Given the description of an element on the screen output the (x, y) to click on. 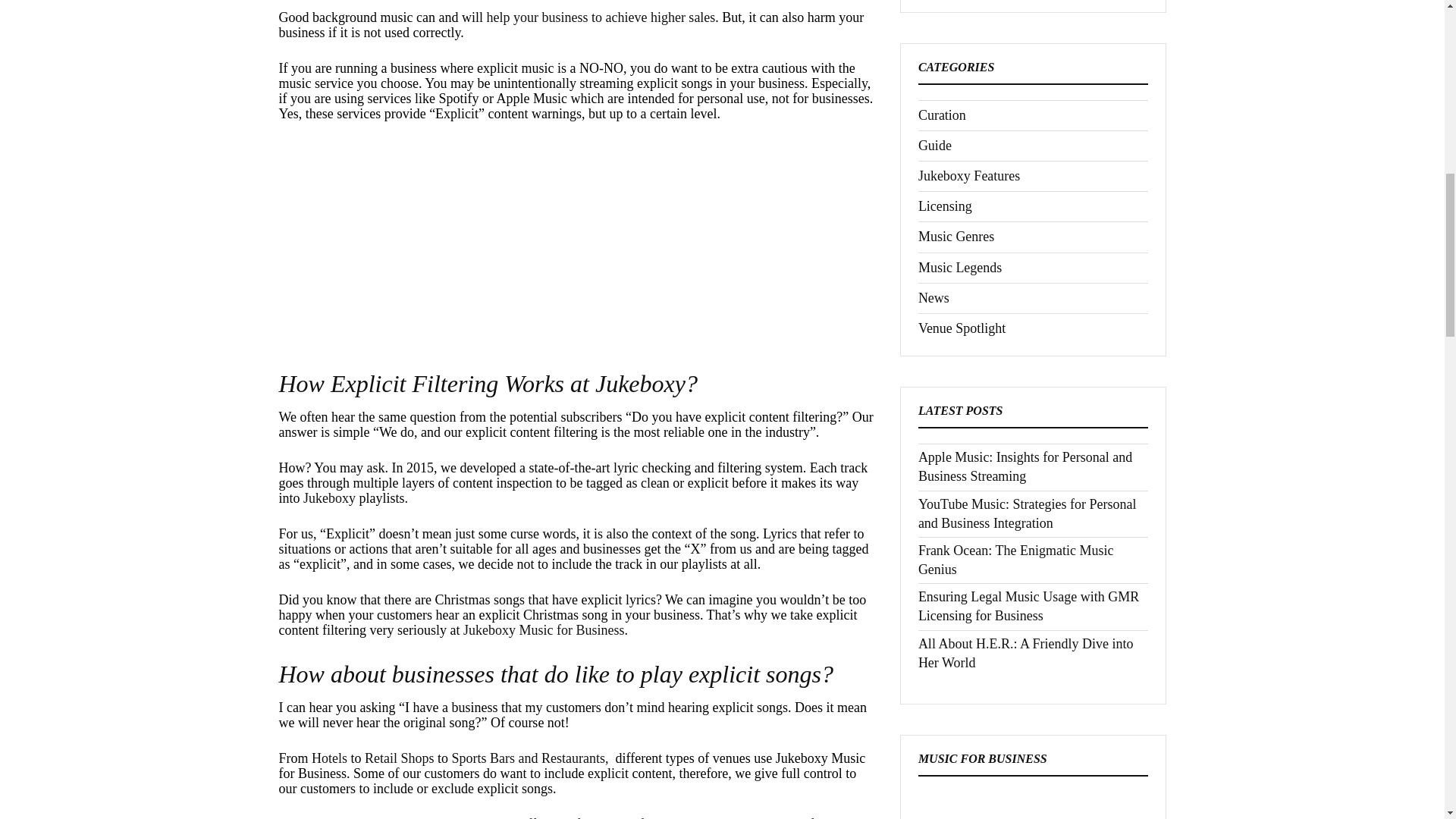
Jukeboxy Music for Business (543, 630)
Jukeboxy (328, 498)
Retail Shops (399, 758)
Hotels (329, 758)
Sports Bars and Restaurants,  (531, 758)
help your business to achieve higher sales (600, 17)
